Given the description of an element on the screen output the (x, y) to click on. 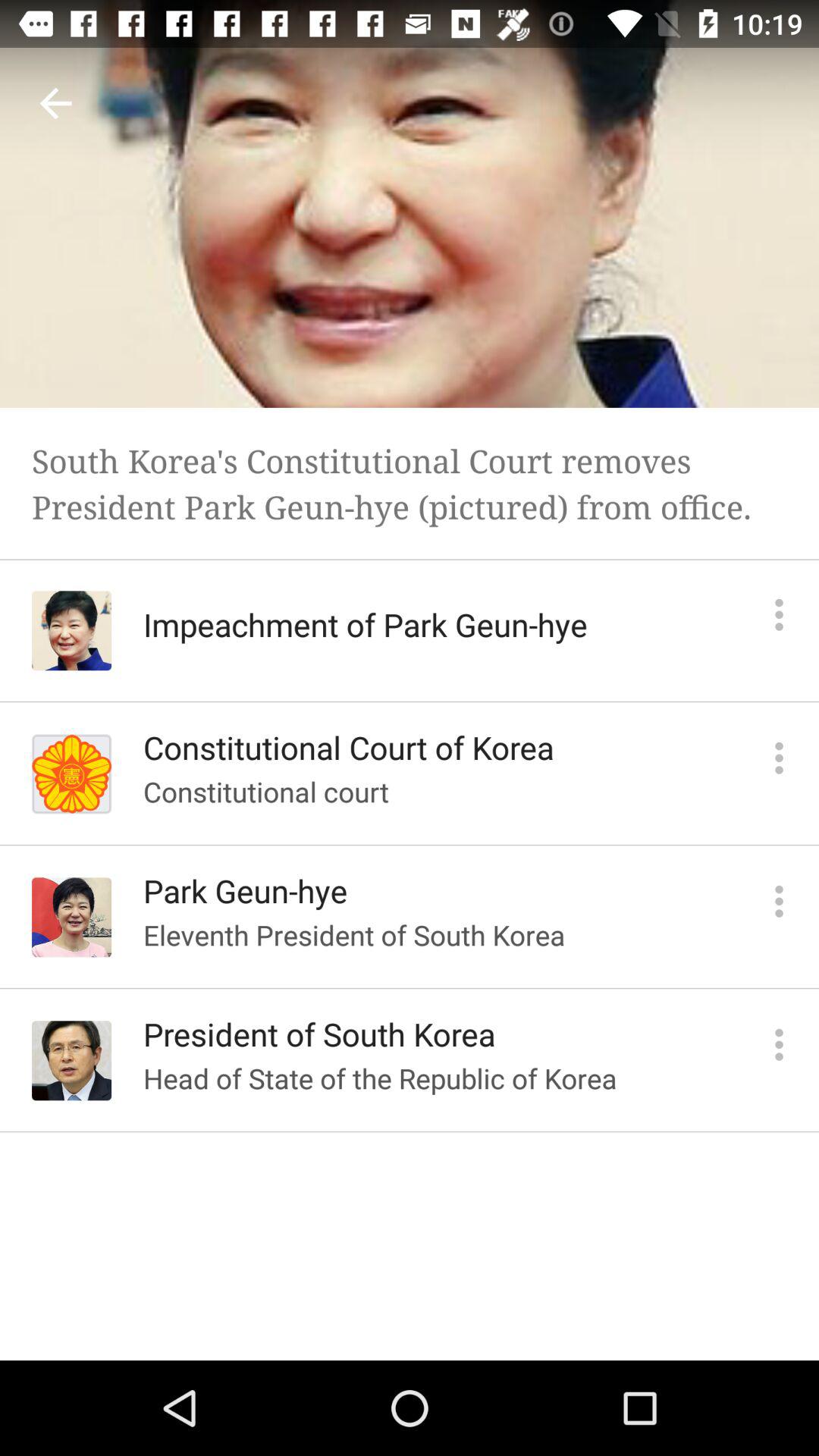
more info (779, 901)
